Given the description of an element on the screen output the (x, y) to click on. 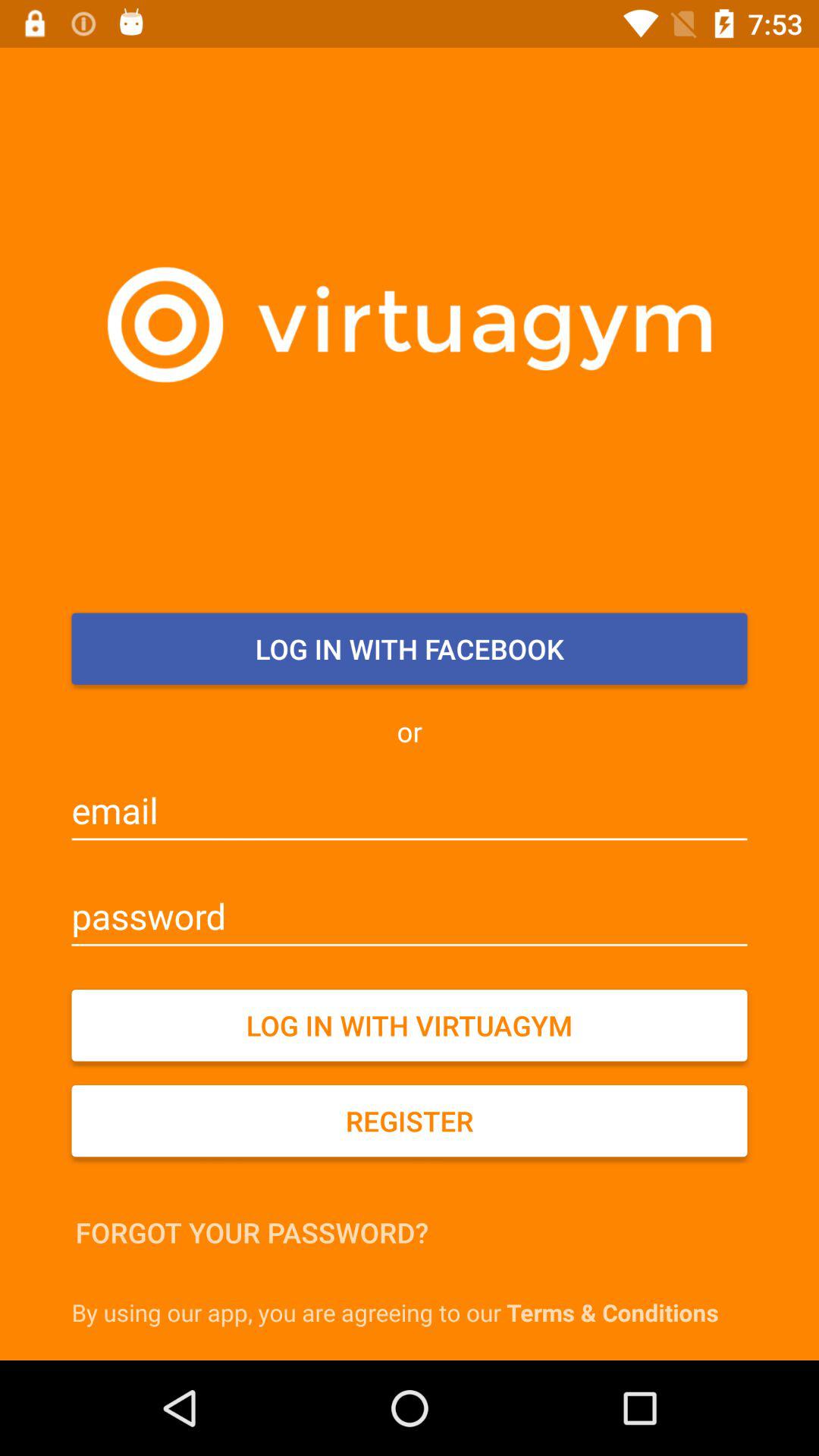
enter password (409, 916)
